Given the description of an element on the screen output the (x, y) to click on. 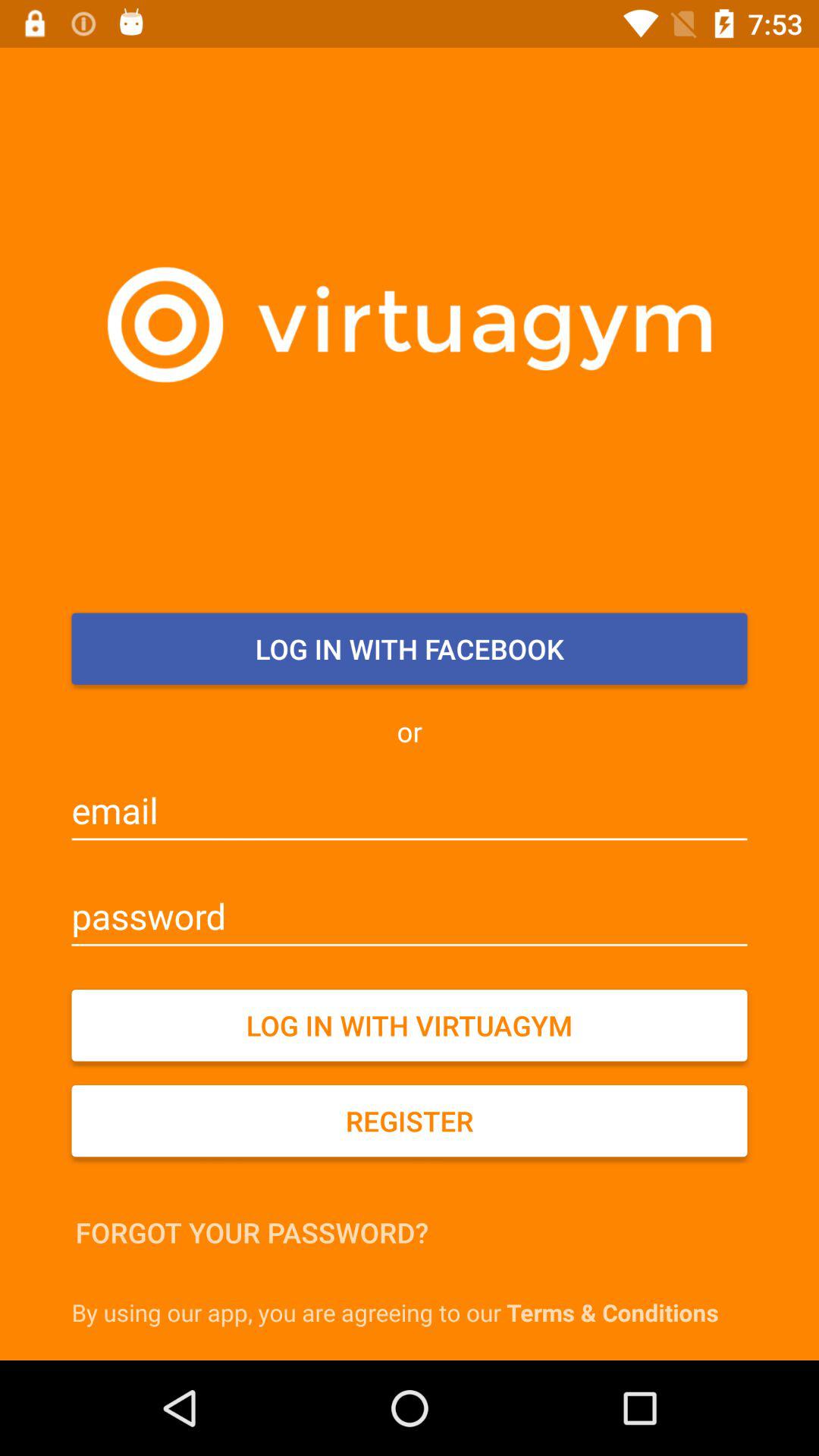
enter password (409, 916)
